Given the description of an element on the screen output the (x, y) to click on. 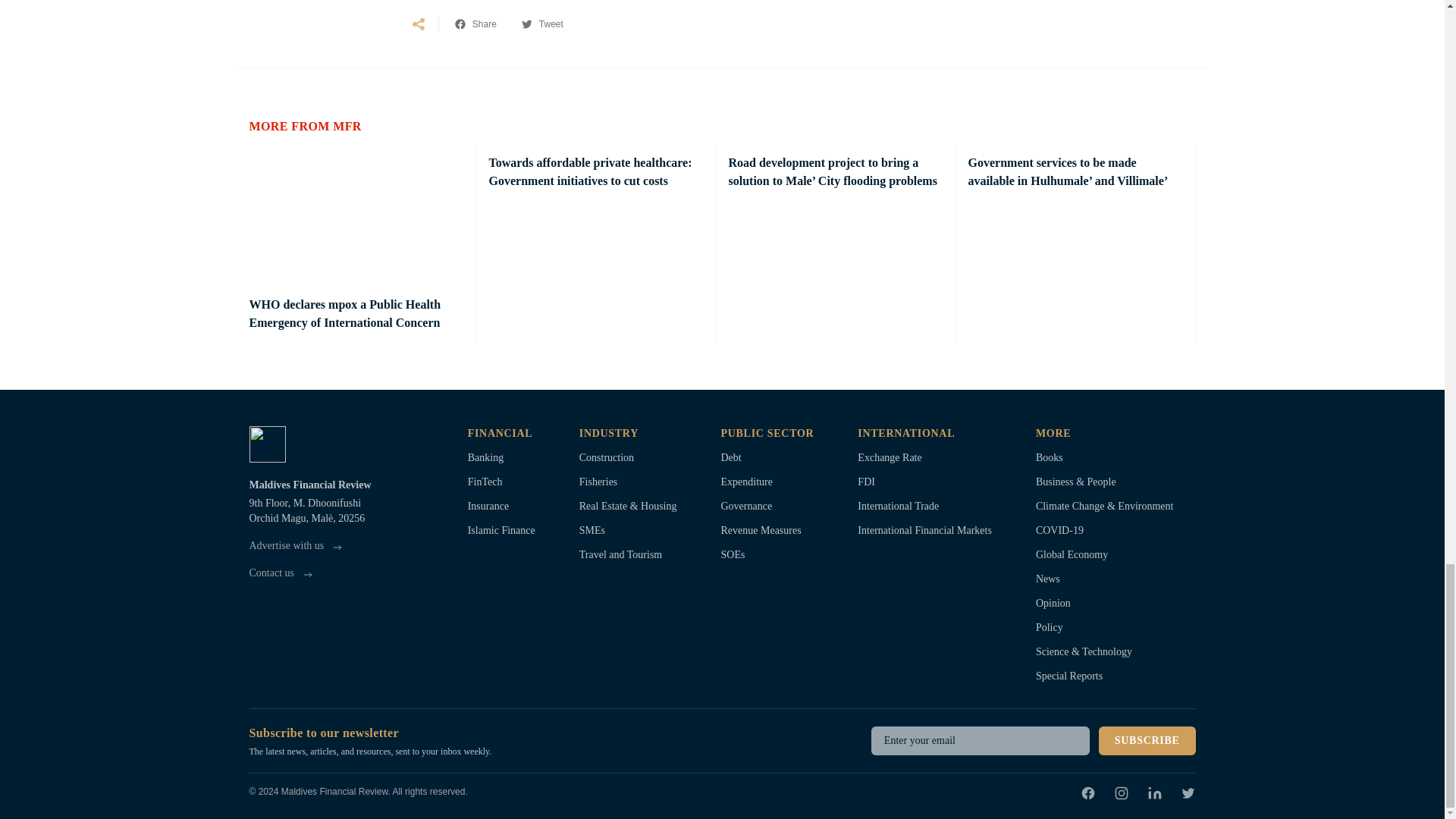
Insurance (501, 506)
Tweet (542, 24)
Construction (627, 457)
Contact us (281, 572)
SMEs (627, 530)
Advertise with us (296, 545)
Share (475, 24)
FinTech (501, 482)
